Given the description of an element on the screen output the (x, y) to click on. 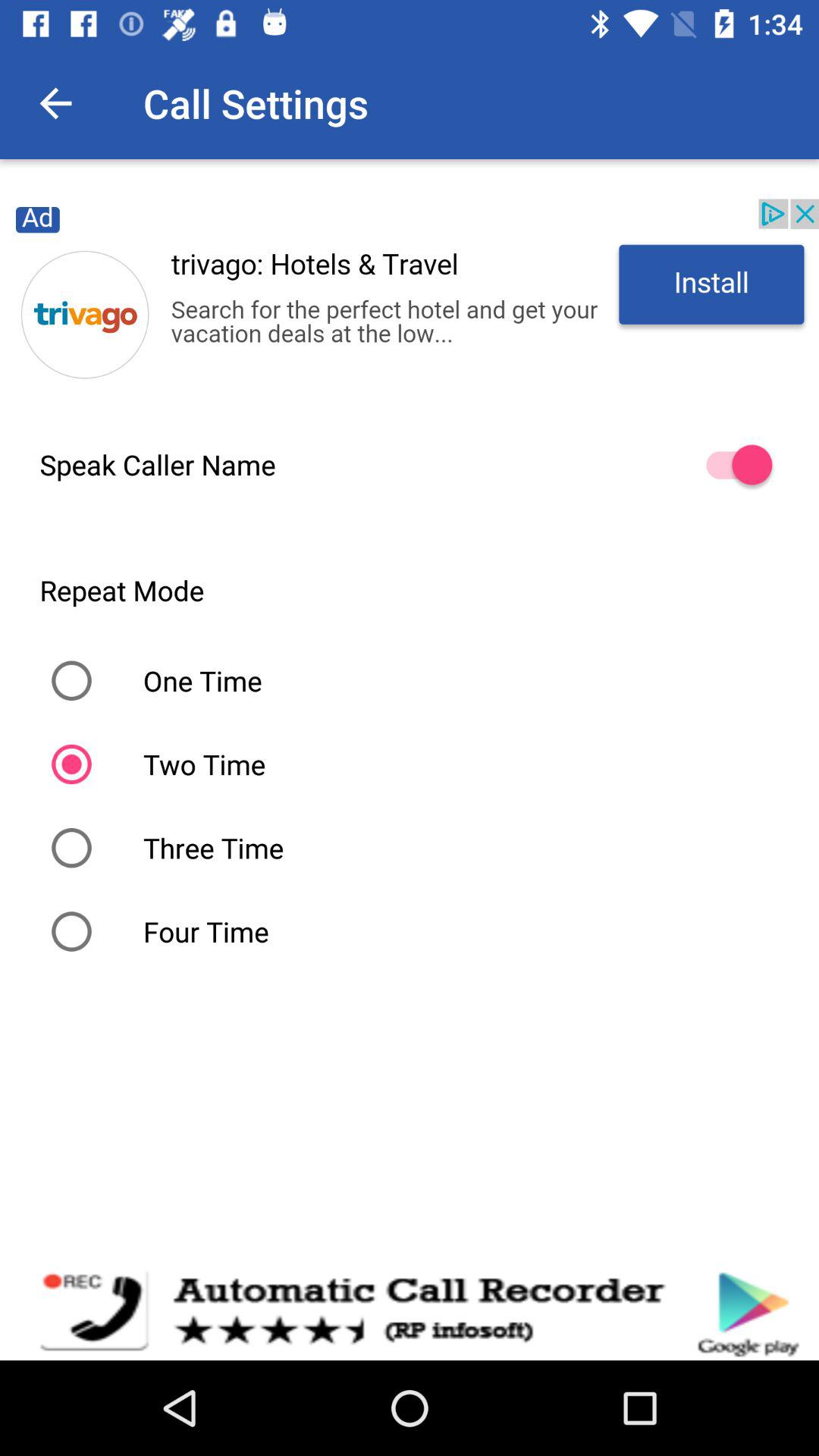
select the add (409, 298)
